Given the description of an element on the screen output the (x, y) to click on. 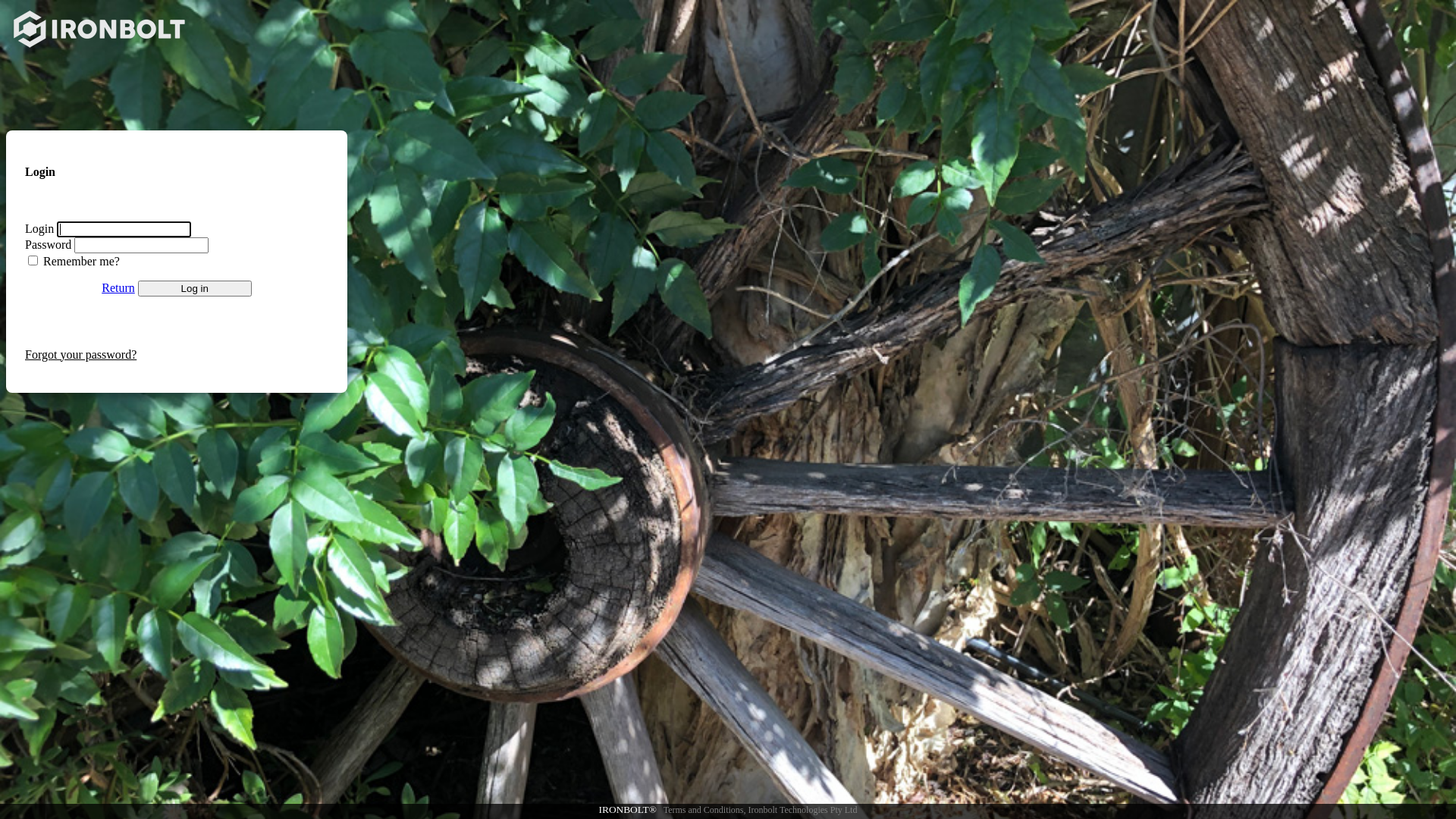
Forgot your password? Element type: text (80, 354)
Return Element type: text (117, 287)
Log in Element type: text (194, 288)
